Given the description of an element on the screen output the (x, y) to click on. 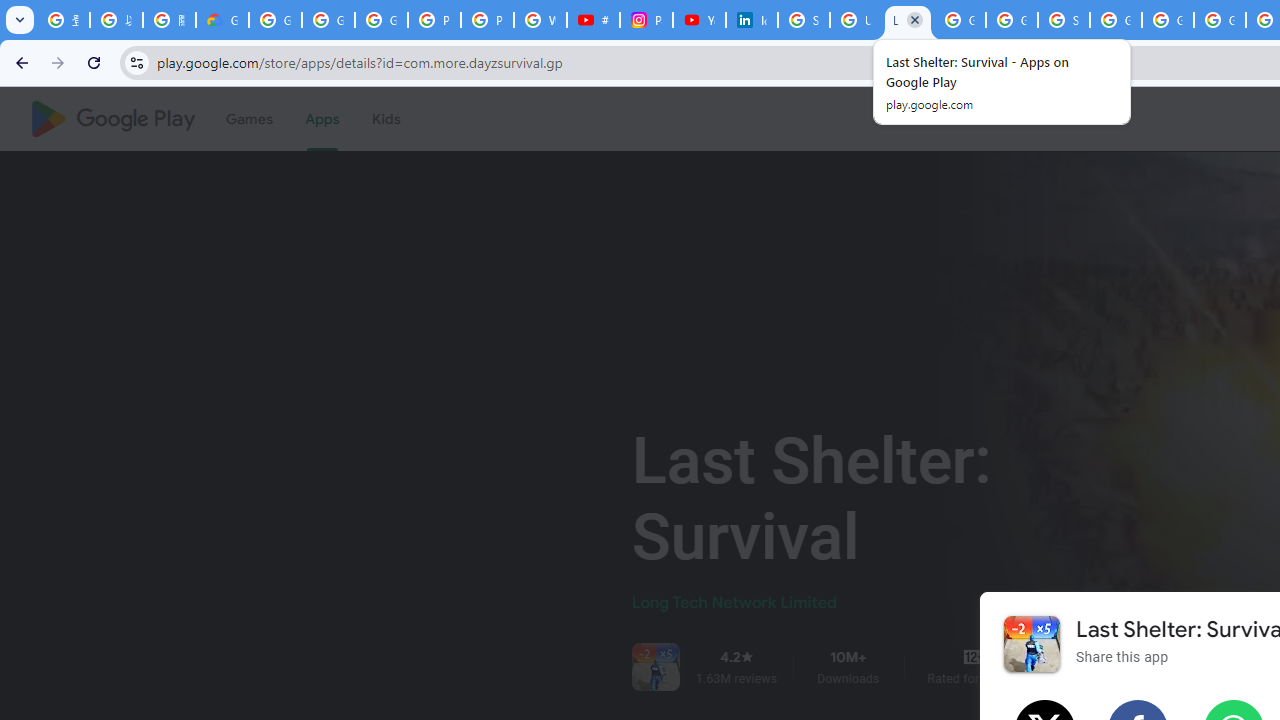
Sign in - Google Accounts (803, 20)
Google Workspace - Specific Terms (1011, 20)
Privacy Help Center - Policies Help (487, 20)
#nbabasketballhighlights - YouTube (593, 20)
